Given the description of an element on the screen output the (x, y) to click on. 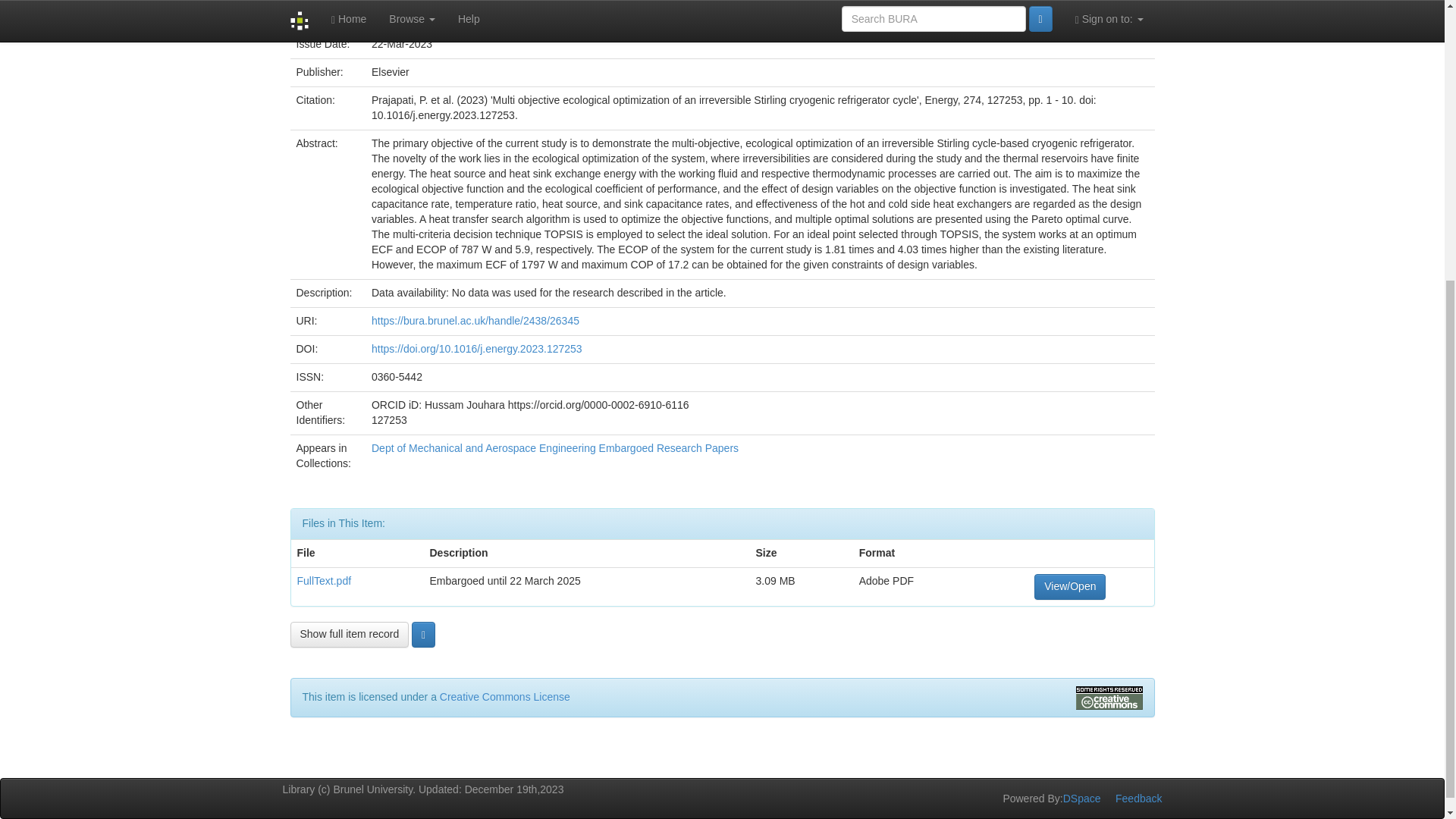
Feedback (1138, 798)
DSpace (1081, 798)
Creative Commons License (504, 696)
FullText.pdf (324, 580)
Show full item record (349, 634)
